Given the description of an element on the screen output the (x, y) to click on. 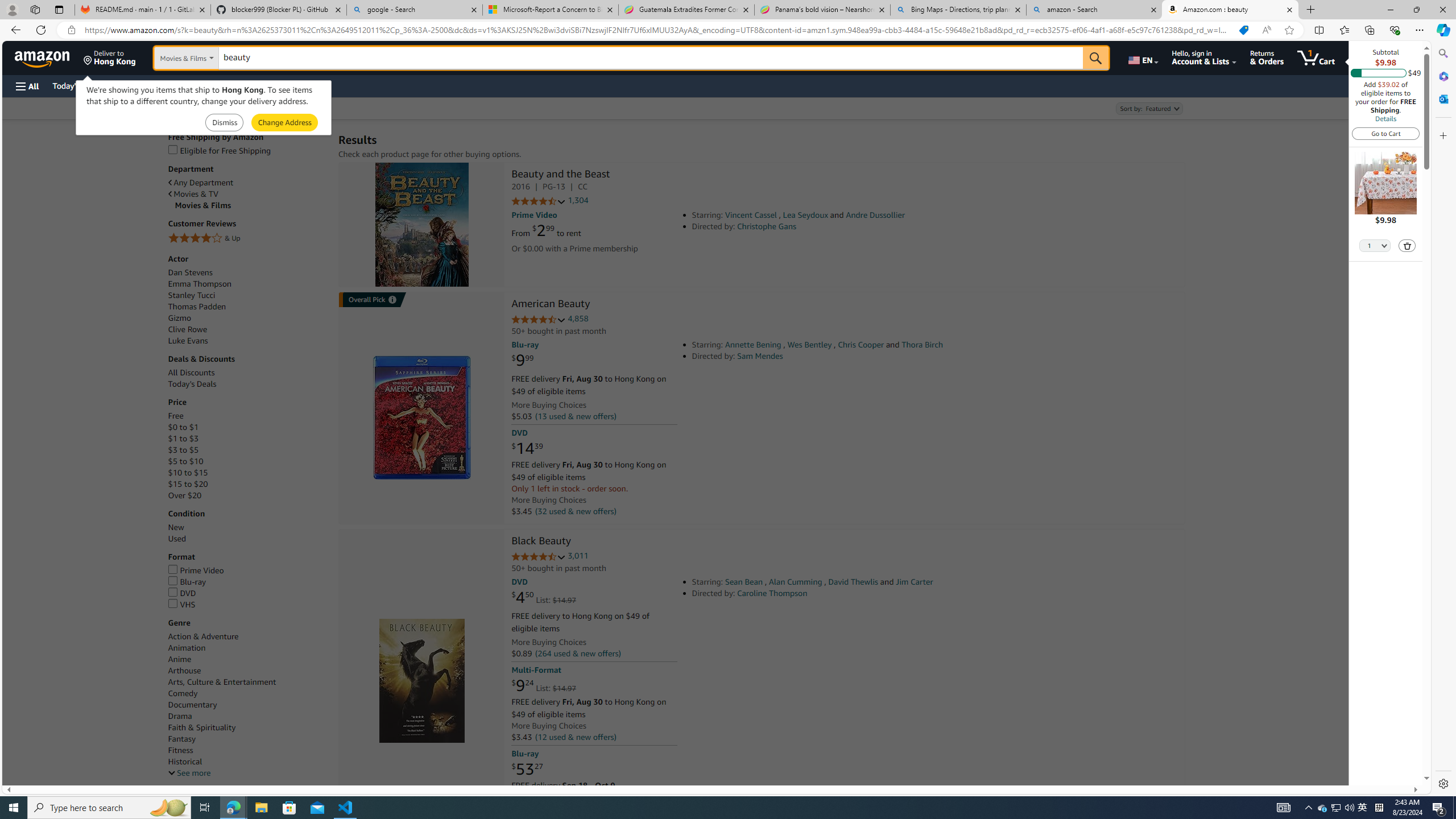
$15 to $20 (247, 483)
Emma Thompson (247, 284)
Gizmo (179, 317)
Hello, sign in Account & Lists (1203, 57)
Fantasy (247, 738)
